Given the description of an element on the screen output the (x, y) to click on. 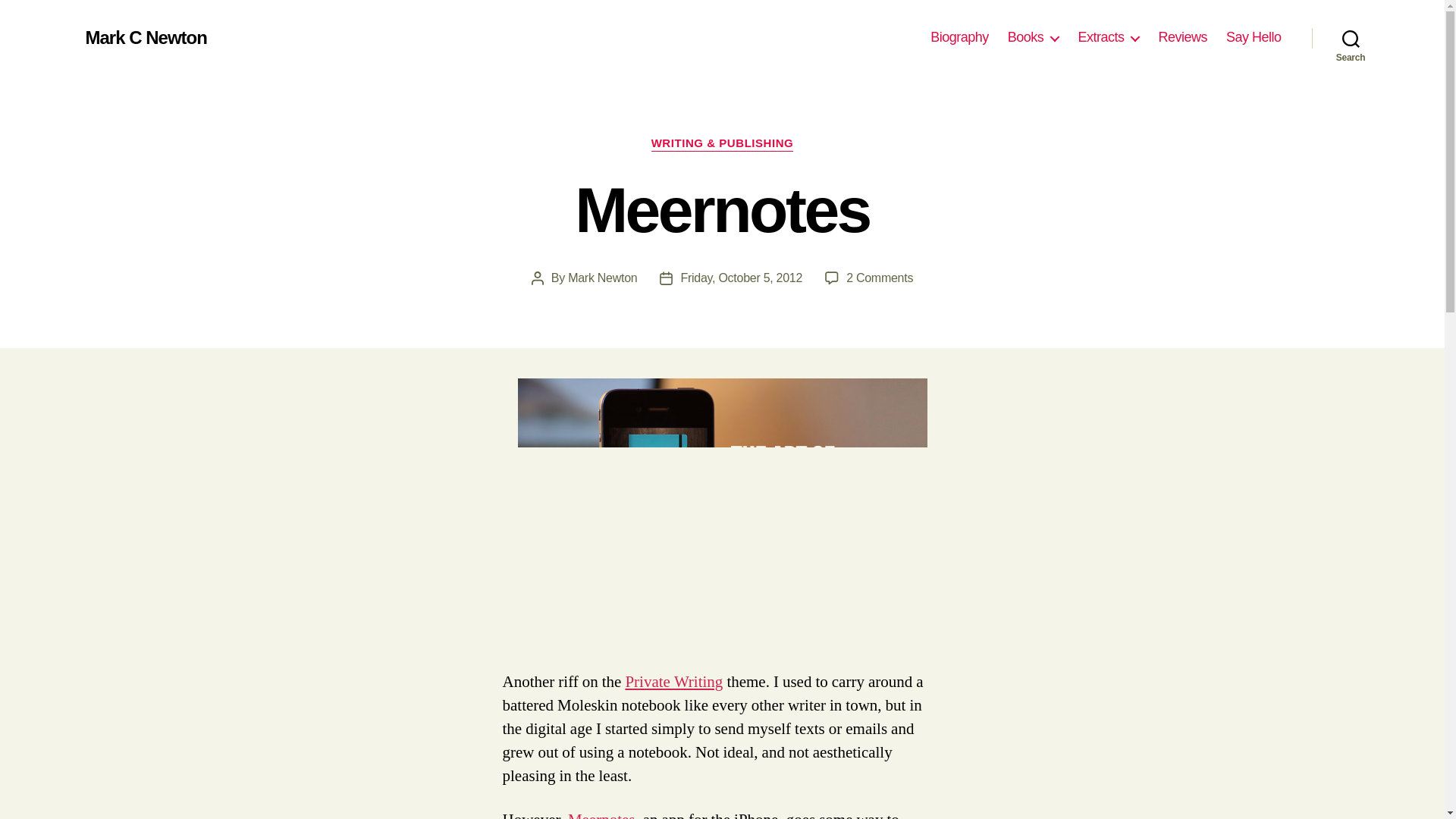
Reviews (1182, 37)
Extracts (1107, 37)
Friday, October 5, 2012 (740, 277)
Meernotes (600, 814)
Mark C Newton (145, 37)
Meernotes (721, 497)
Private Writing (878, 277)
Say Hello (673, 681)
Mark Newton (1253, 37)
Books (602, 277)
Biography (1033, 37)
Search (959, 37)
